Given the description of an element on the screen output the (x, y) to click on. 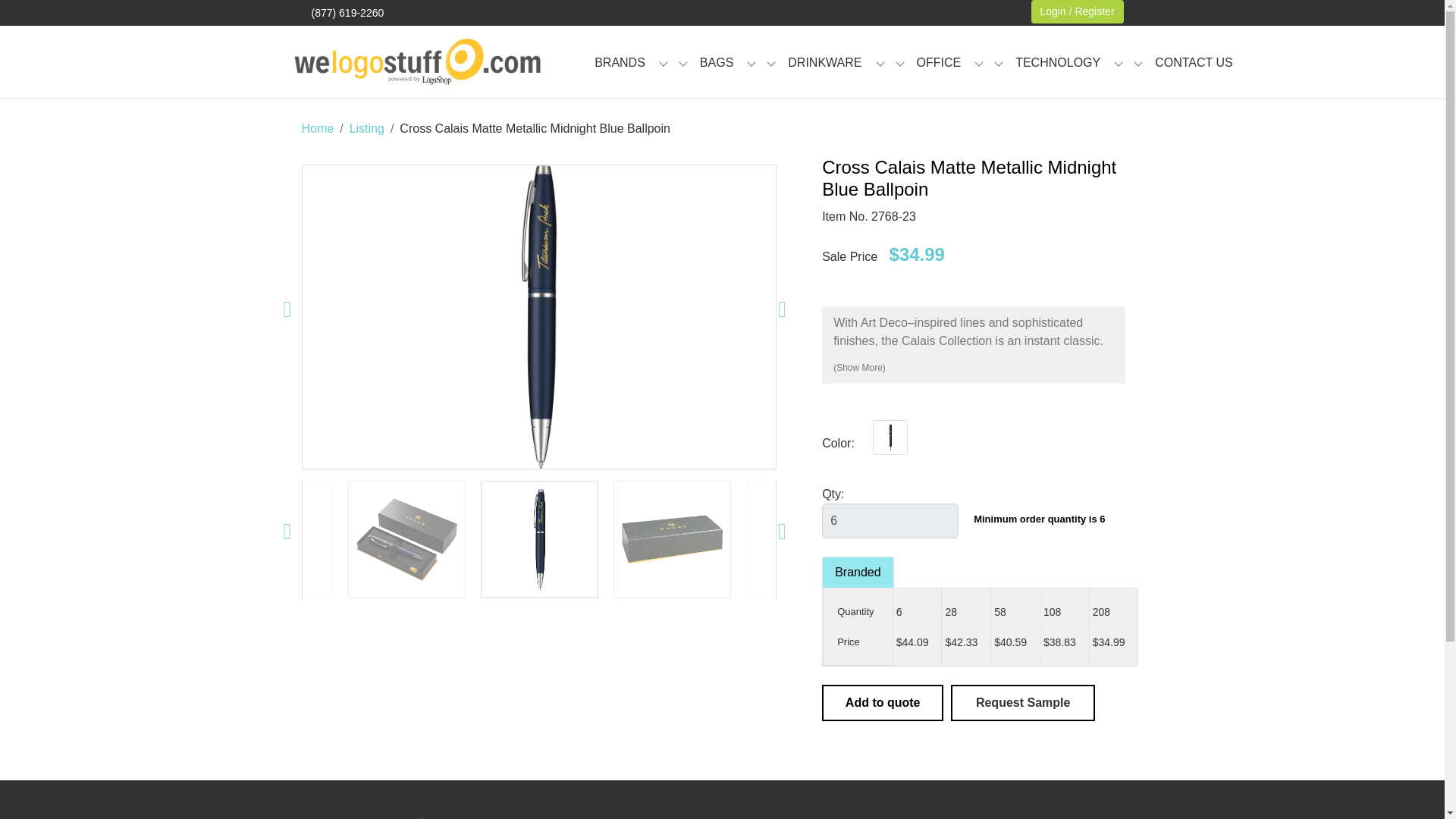
BRANDS (619, 63)
6 (890, 520)
Brands (619, 63)
